Given the description of an element on the screen output the (x, y) to click on. 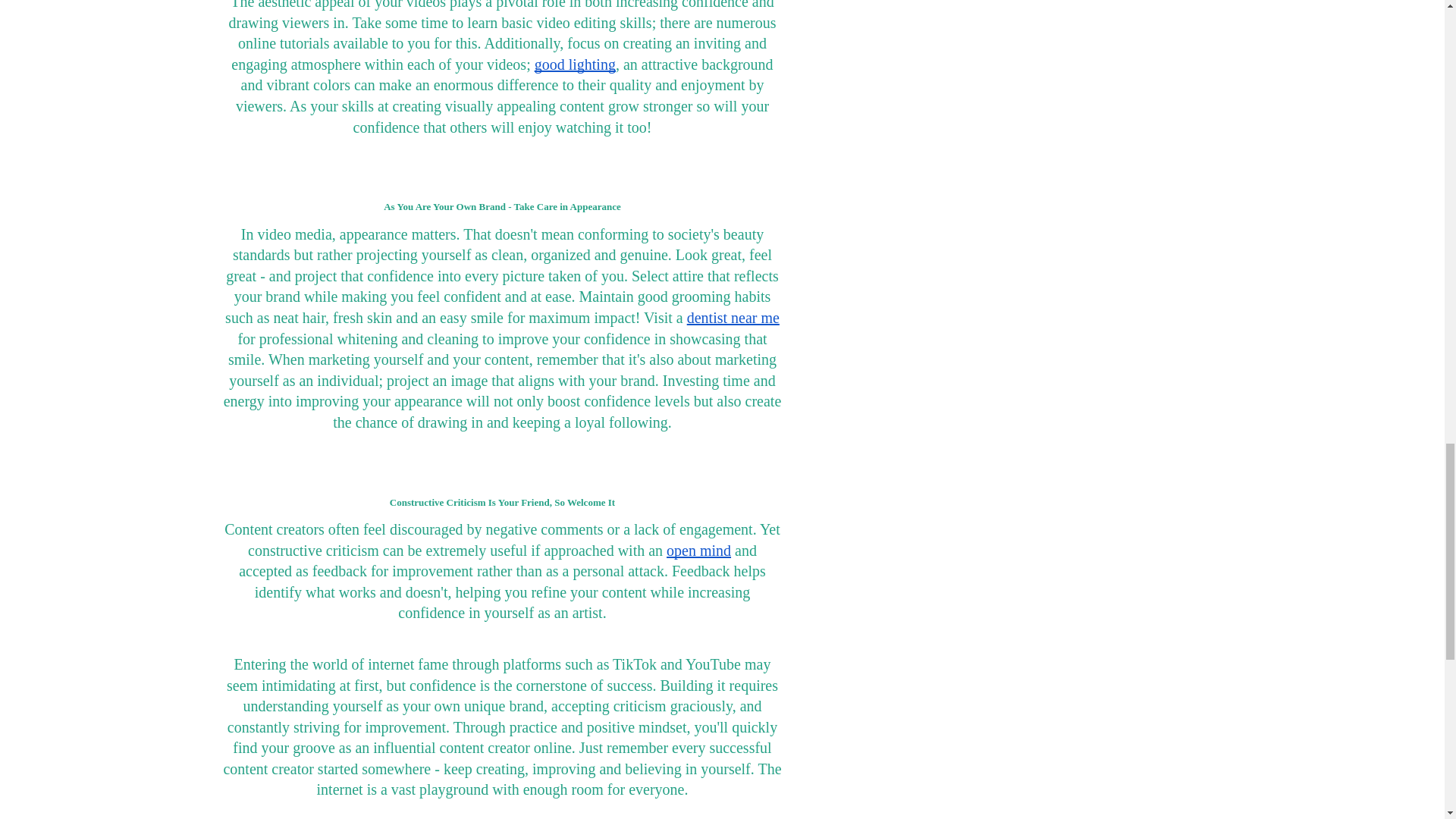
dentist near me (732, 317)
open mind (698, 550)
good lighting (574, 64)
